Given the description of an element on the screen output the (x, y) to click on. 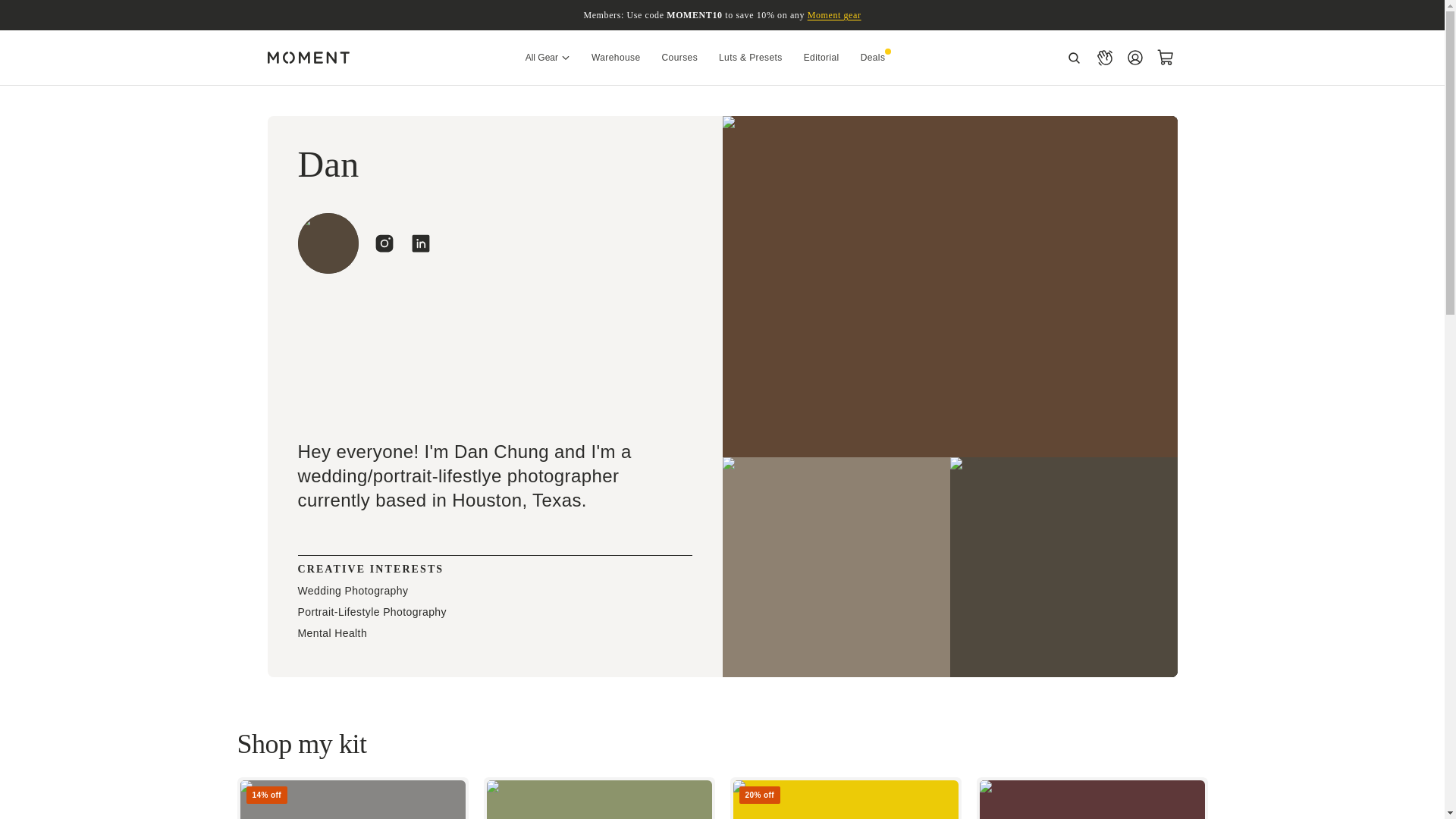
Deals (872, 57)
Courses (679, 57)
Go to daniel-chung-b14aa5a1 (419, 242)
Warehouse (615, 57)
Cart: 0 items (1164, 57)
Search (1073, 57)
All Gear (547, 57)
Login (1134, 57)
Connect (1104, 57)
Moment gear (834, 14)
